Given the description of an element on the screen output the (x, y) to click on. 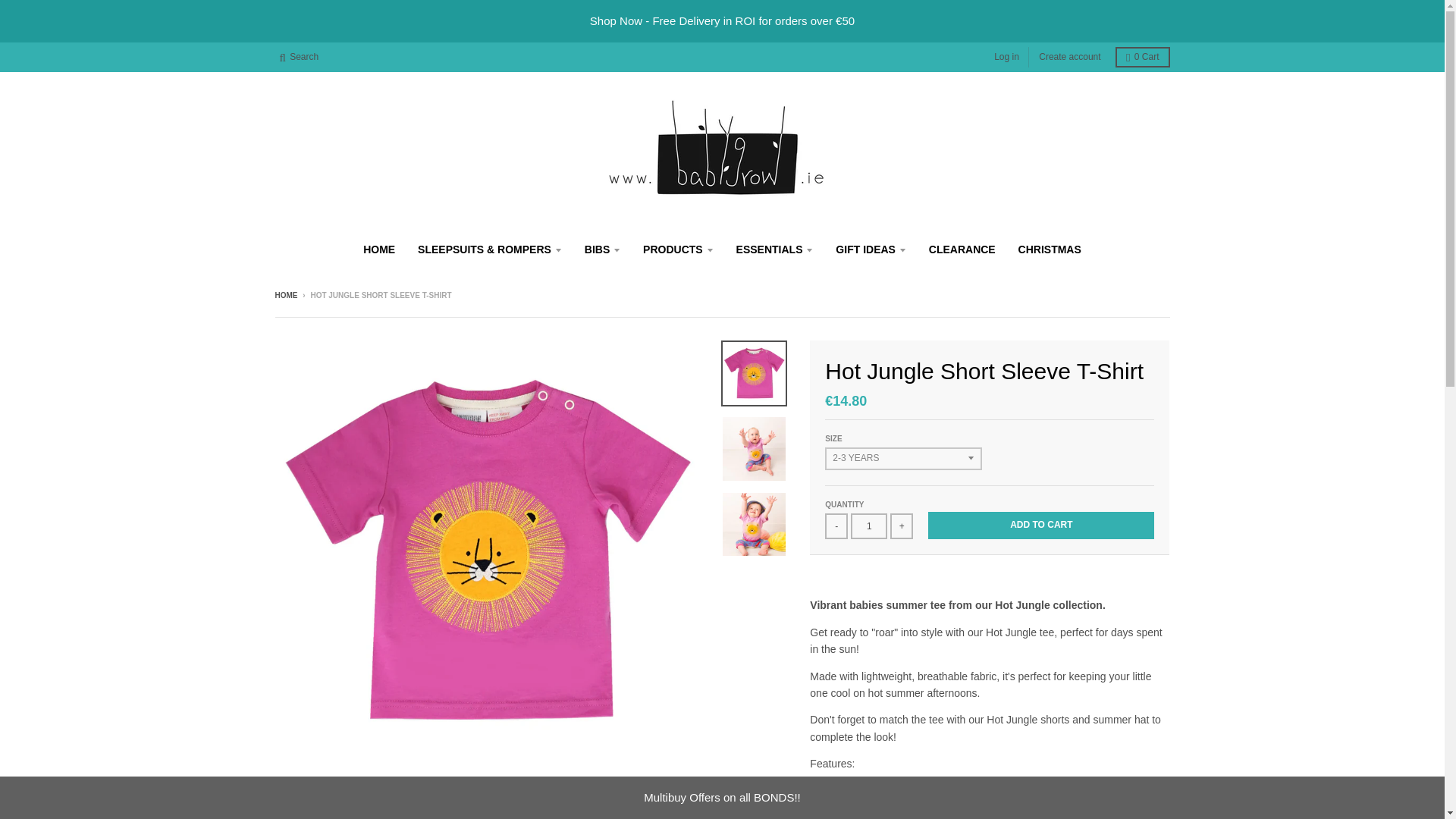
Log in (1006, 56)
PRODUCTS (678, 248)
1 (868, 525)
HOME (378, 248)
0 Cart (1142, 56)
Search (299, 56)
BIBS (602, 248)
Create account (1069, 56)
Back to the frontpage (286, 295)
